Given the description of an element on the screen output the (x, y) to click on. 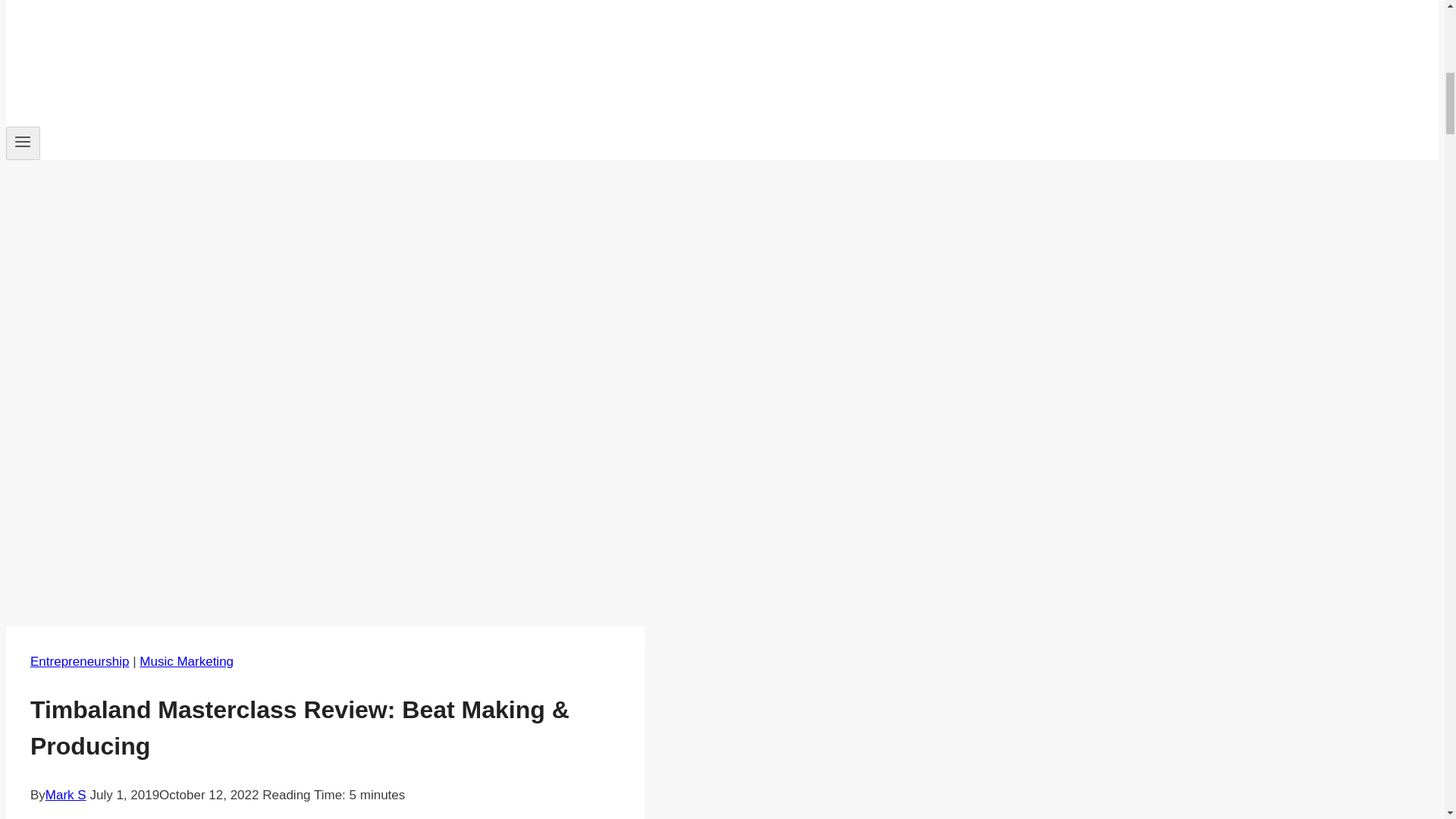
Mark S (65, 794)
Music Marketing (185, 660)
Entrepreneurship (79, 660)
Toggle Menu (22, 141)
Toggle Menu (22, 142)
